Given the description of an element on the screen output the (x, y) to click on. 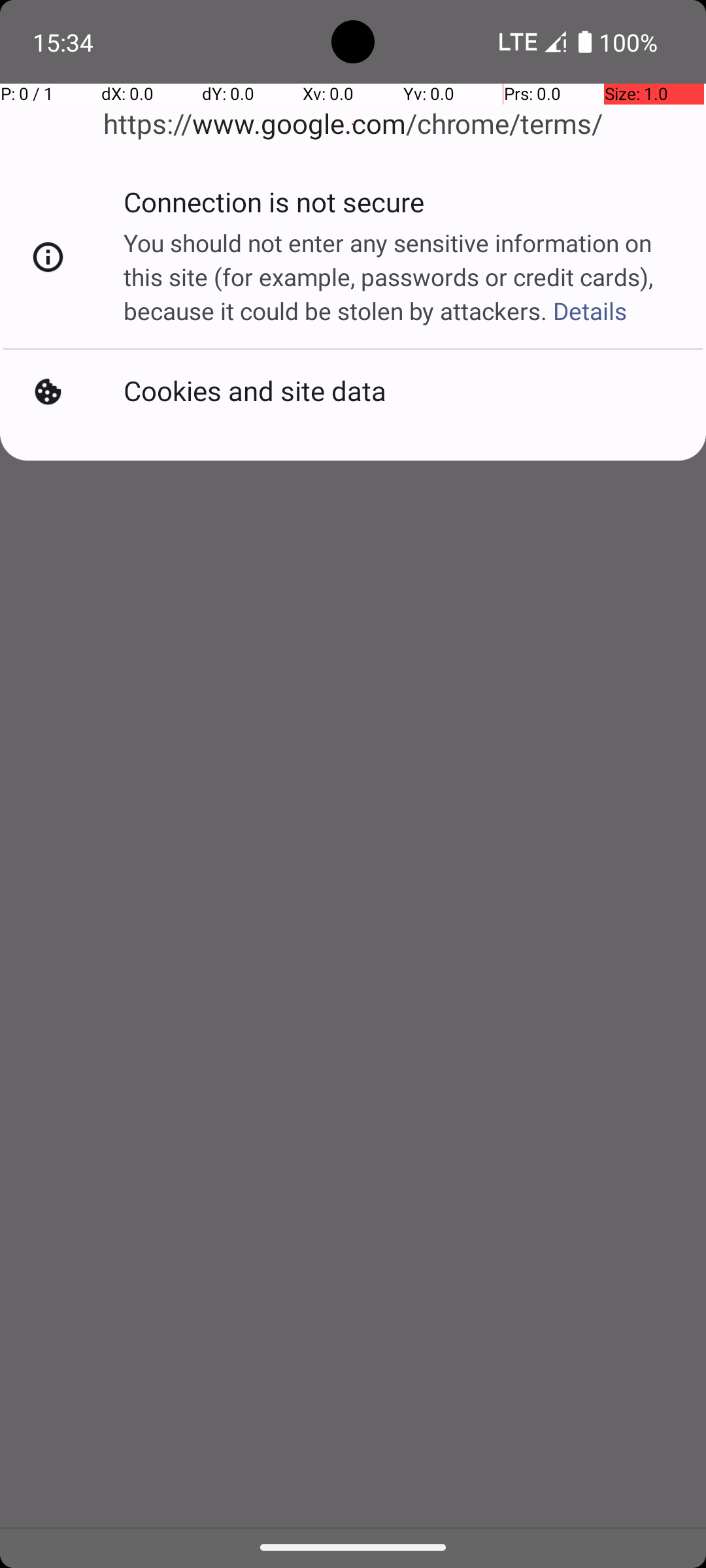
You should not enter any sensitive information on this site (for example, passwords or credit cards), because it could be stolen by attackers. Details Element type: android.widget.TextView (400, 276)
Cookies and site data Element type: android.widget.TextView (254, 391)
